Given the description of an element on the screen output the (x, y) to click on. 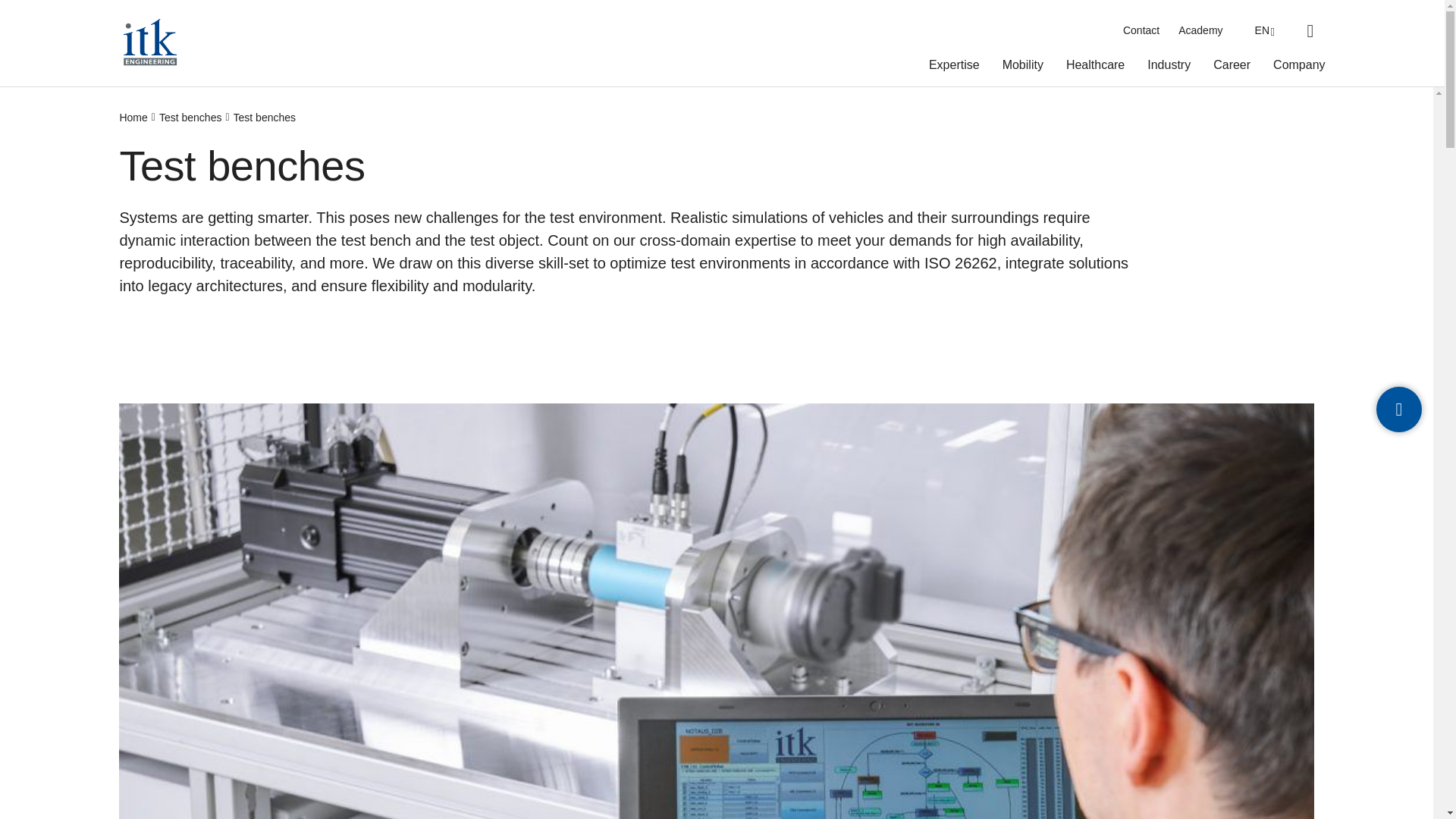
Industry (1169, 68)
Expertise (953, 68)
Career (1231, 68)
Company (1298, 68)
Mobility (1023, 68)
Healthcare (1094, 68)
